Given the description of an element on the screen output the (x, y) to click on. 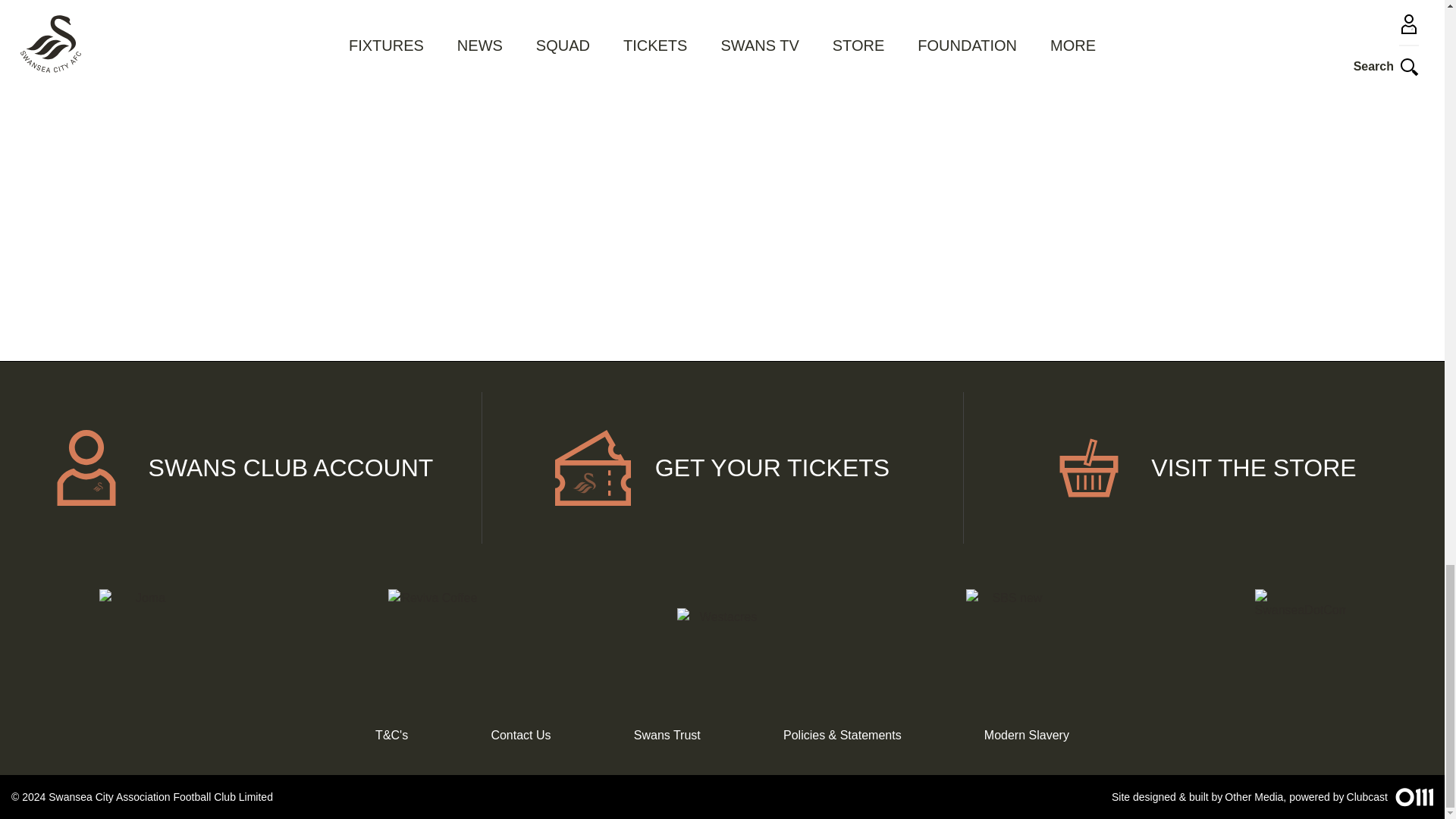
Sign up or log into Swans Club Account (240, 467)
Swansea sponsor (432, 634)
Swansea sponsor (1299, 634)
Swansea sponsor (722, 634)
Swansea sponsor (144, 634)
